Given the description of an element on the screen output the (x, y) to click on. 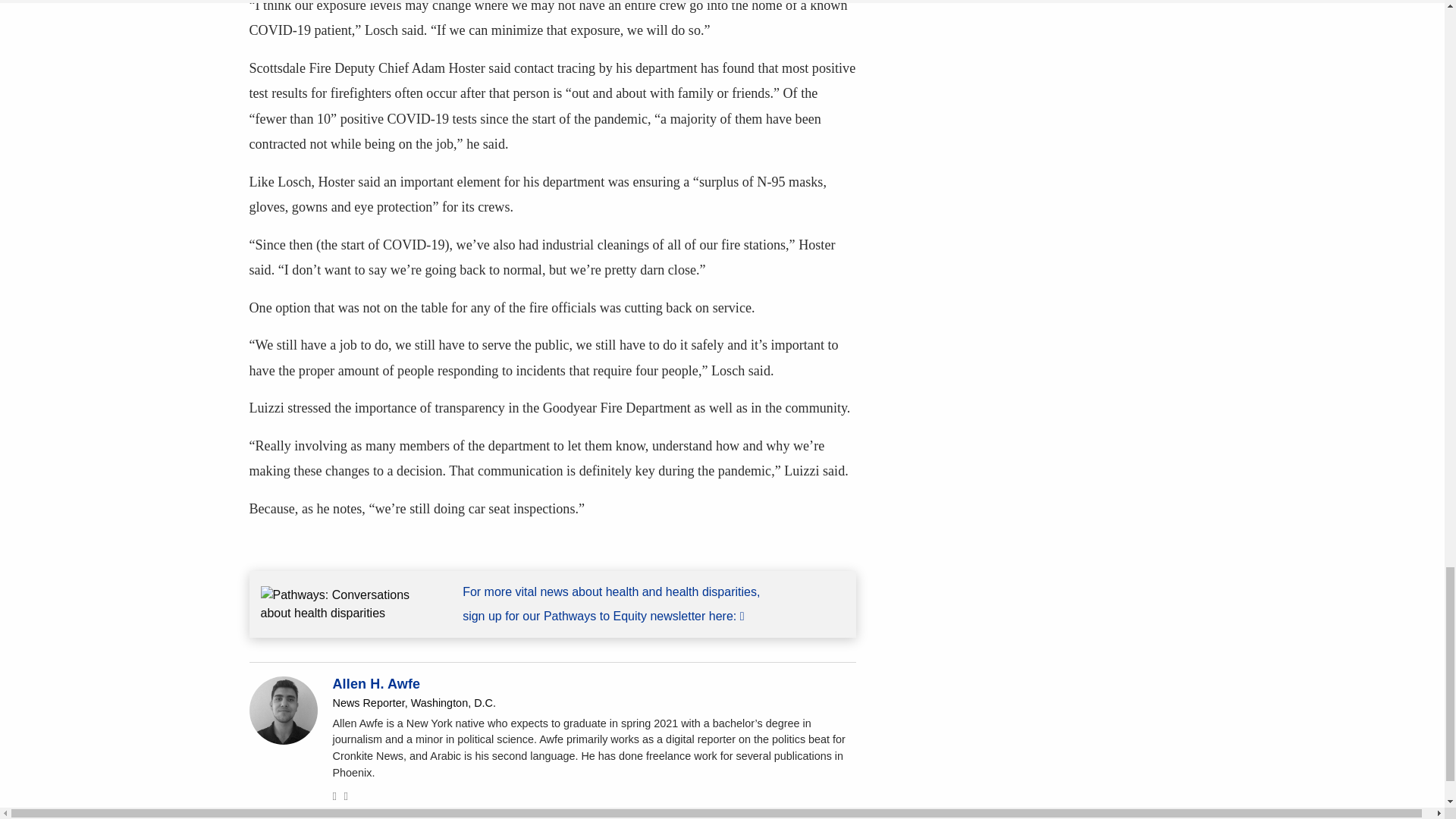
Pathways: Conversations about health disparities (350, 604)
Allen H. Awfe (375, 683)
